Given the description of an element on the screen output the (x, y) to click on. 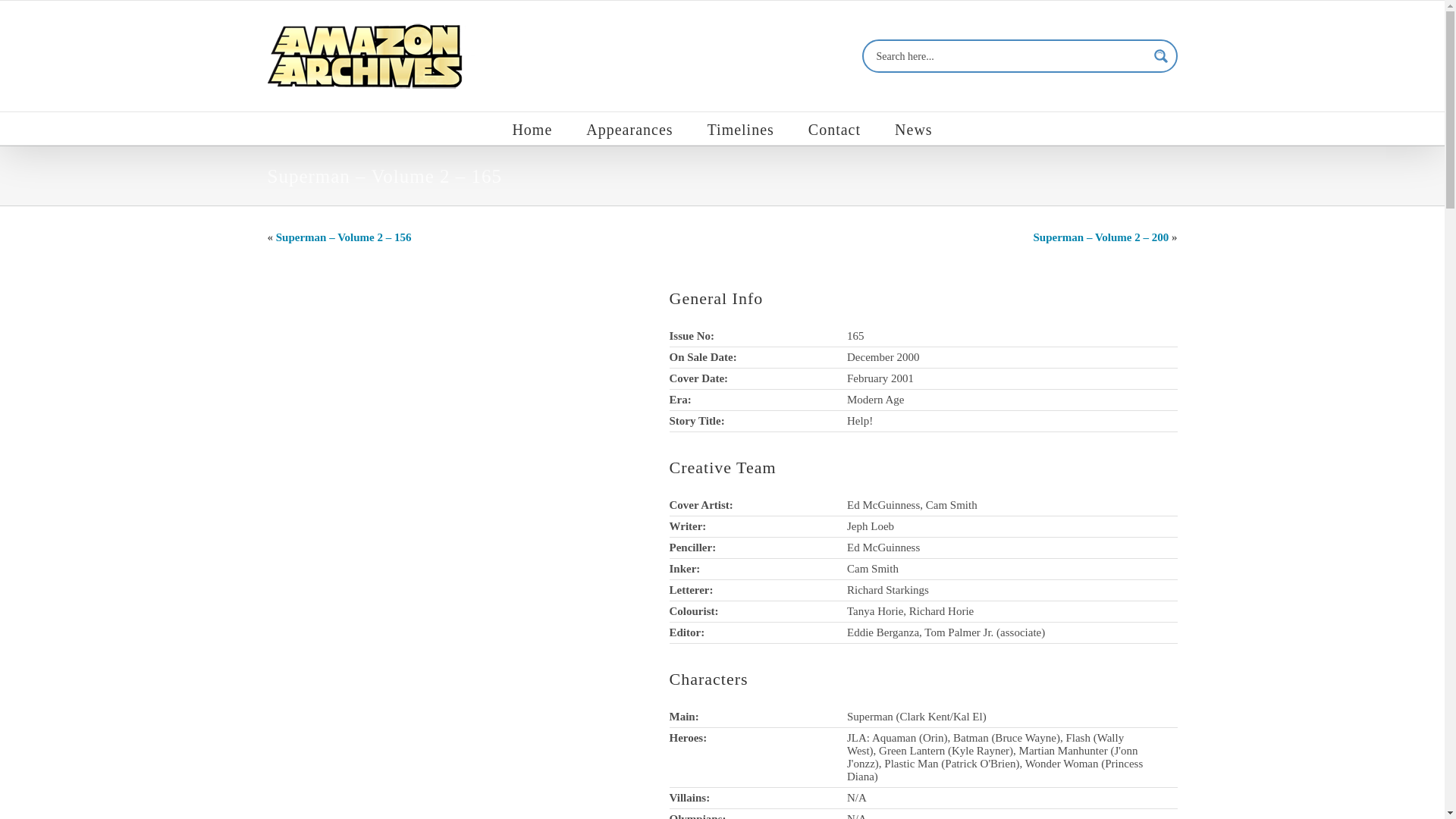
Timelines (740, 128)
Home (531, 128)
Appearances (629, 128)
